Given the description of an element on the screen output the (x, y) to click on. 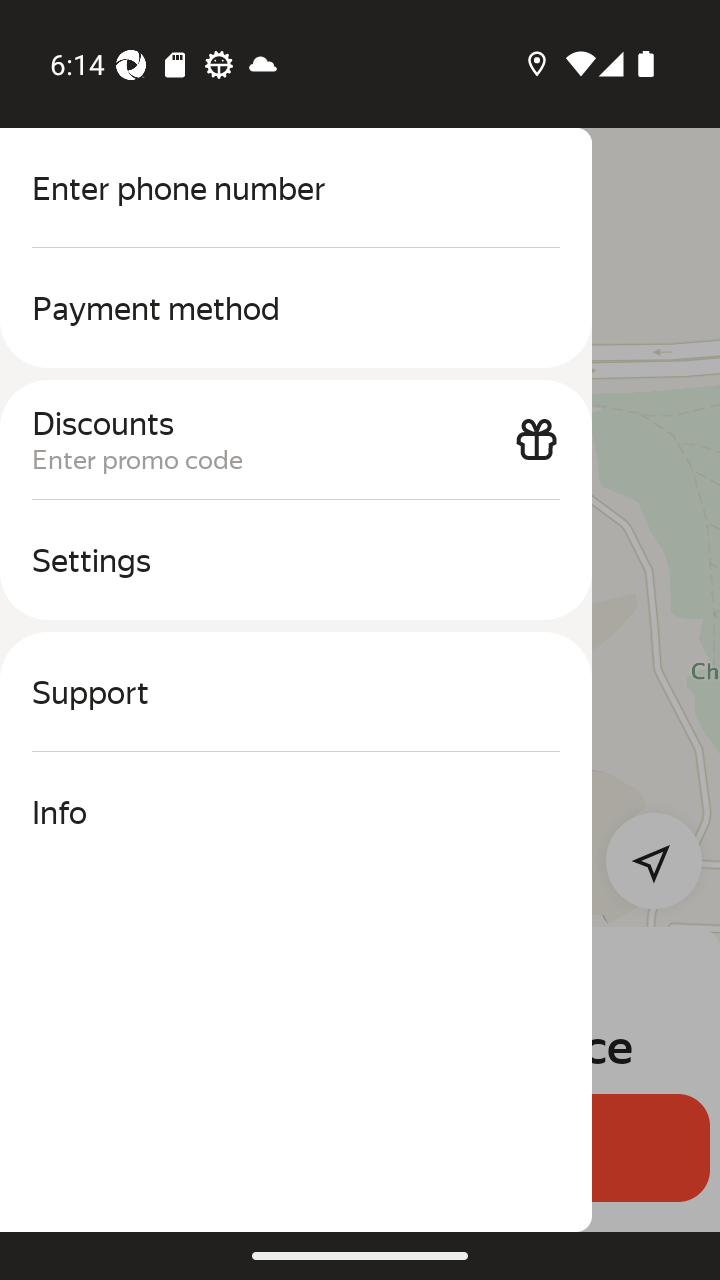
Enter phone number (295, 188)
Payment method (295, 308)
Settings (295, 559)
Support (295, 692)
Info (295, 811)
